Given the description of an element on the screen output the (x, y) to click on. 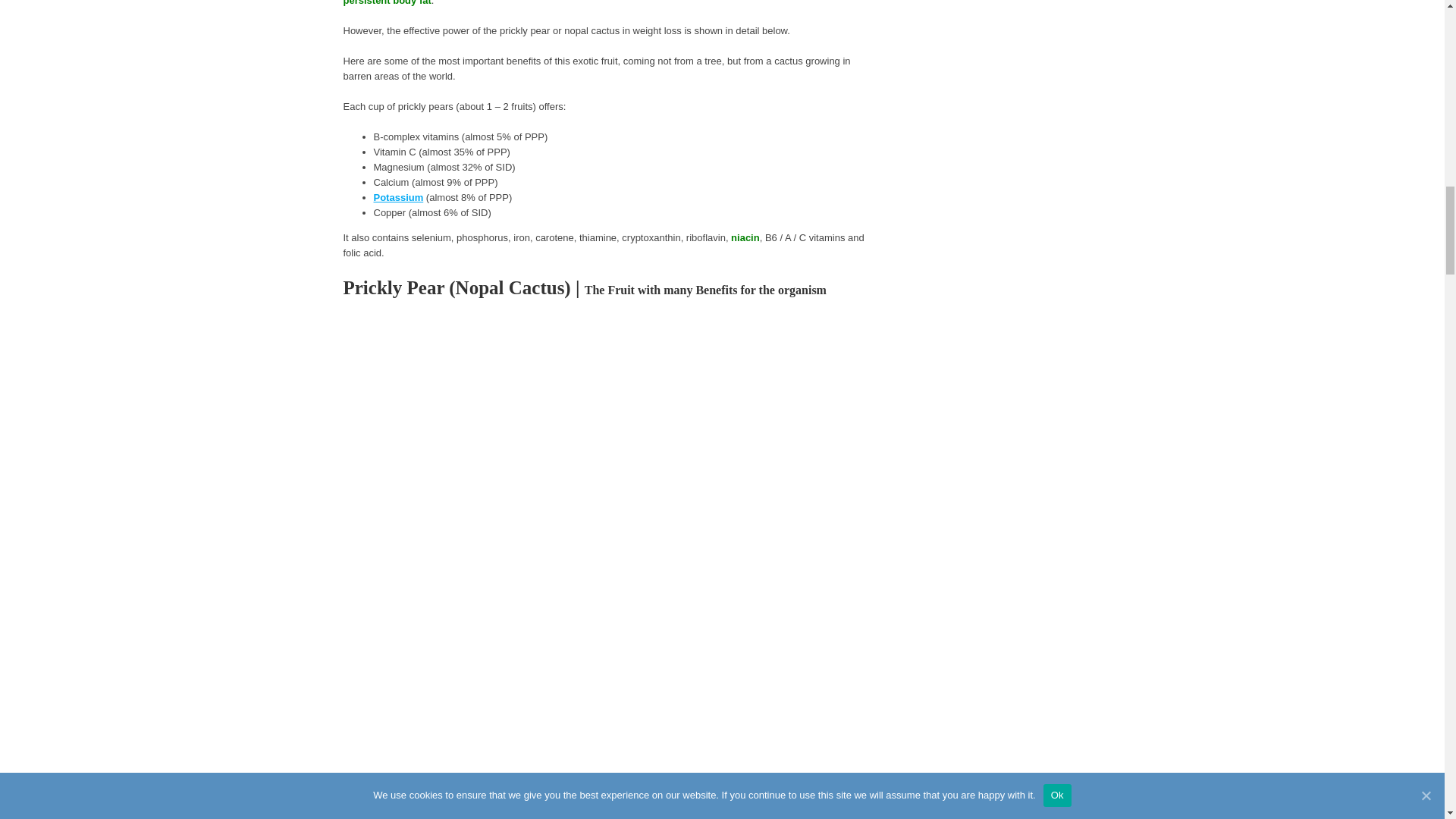
reduces the body weight by losing persistent body fat (583, 2)
Potassium (397, 197)
niacin (745, 237)
